Given the description of an element on the screen output the (x, y) to click on. 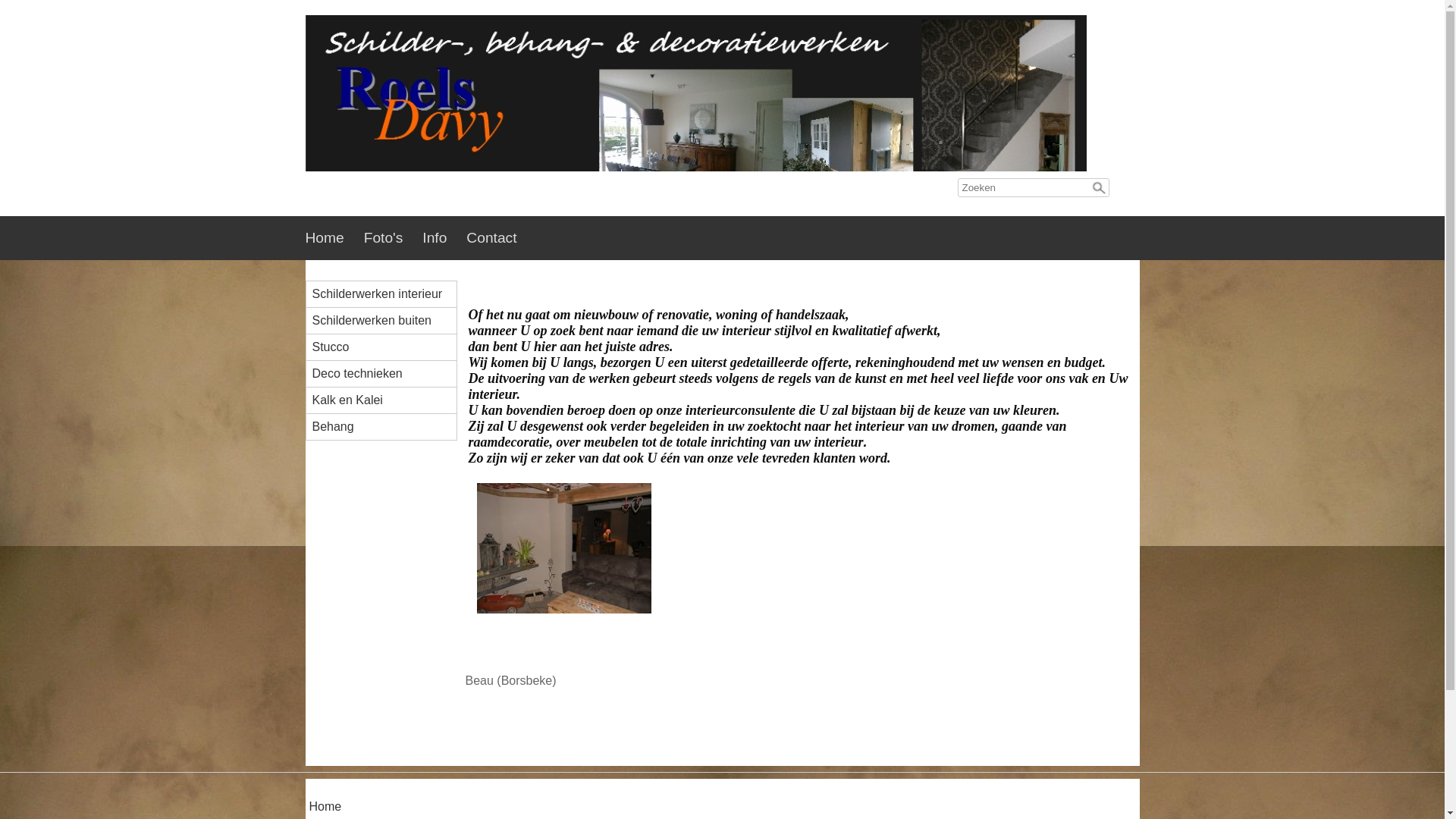
Contact Element type: text (501, 238)
Foto's Element type: text (393, 238)
Home Element type: text (333, 238)
Stucco Element type: text (387, 347)
Schilderwerken buiten Element type: text (387, 320)
Home Element type: text (325, 807)
Deco technieken Element type: text (387, 373)
Beau (Borsbeke) Element type: text (563, 602)
Kalk en Kalei Element type: text (387, 400)
Schilderwerken interieur Element type: text (387, 294)
Behang Element type: text (387, 426)
Info Element type: text (444, 238)
